Given the description of an element on the screen output the (x, y) to click on. 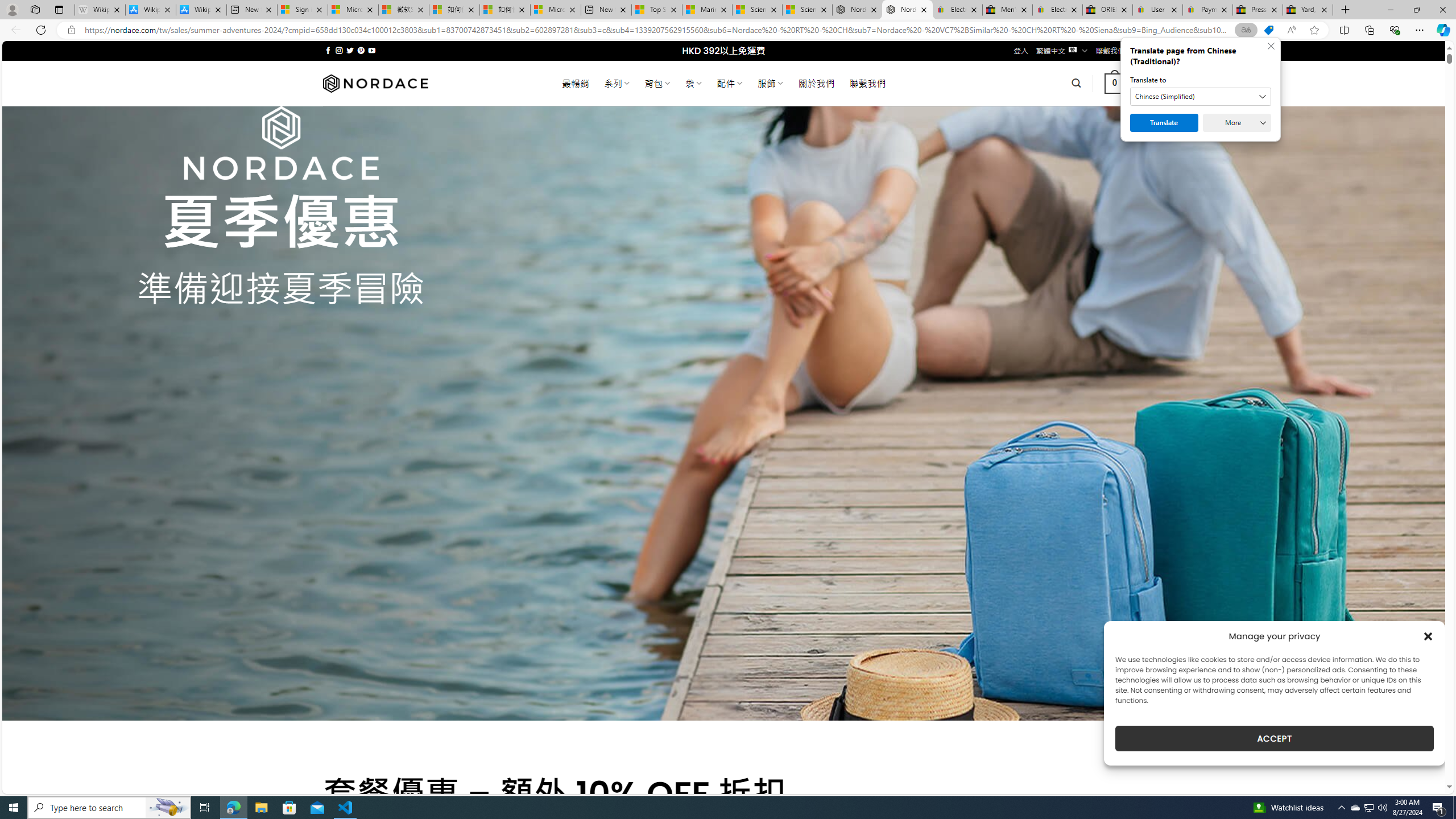
ACCEPT (1274, 738)
